Given the description of an element on the screen output the (x, y) to click on. 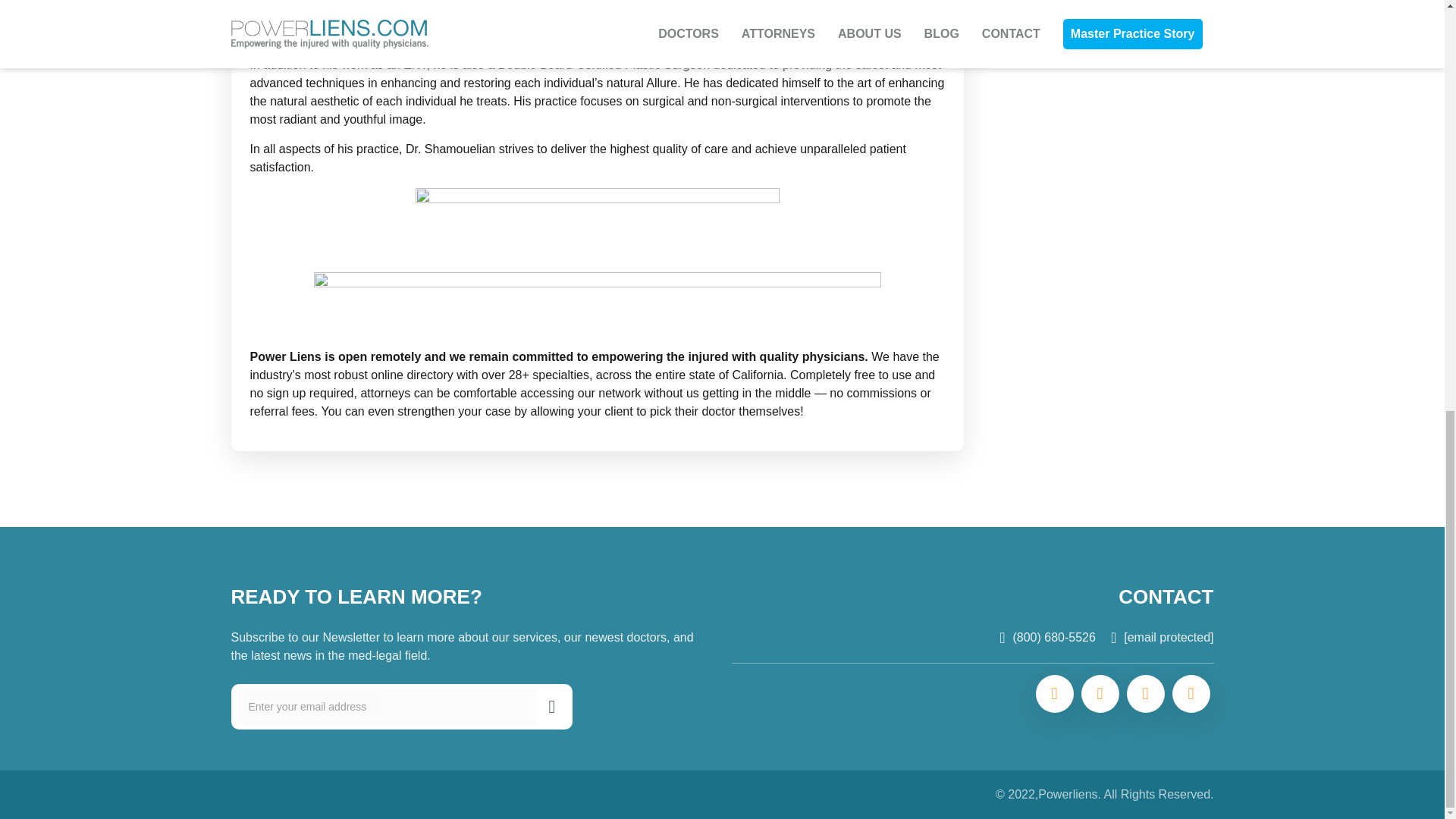
Dr. David Shamouelian (312, 4)
